Given the description of an element on the screen output the (x, y) to click on. 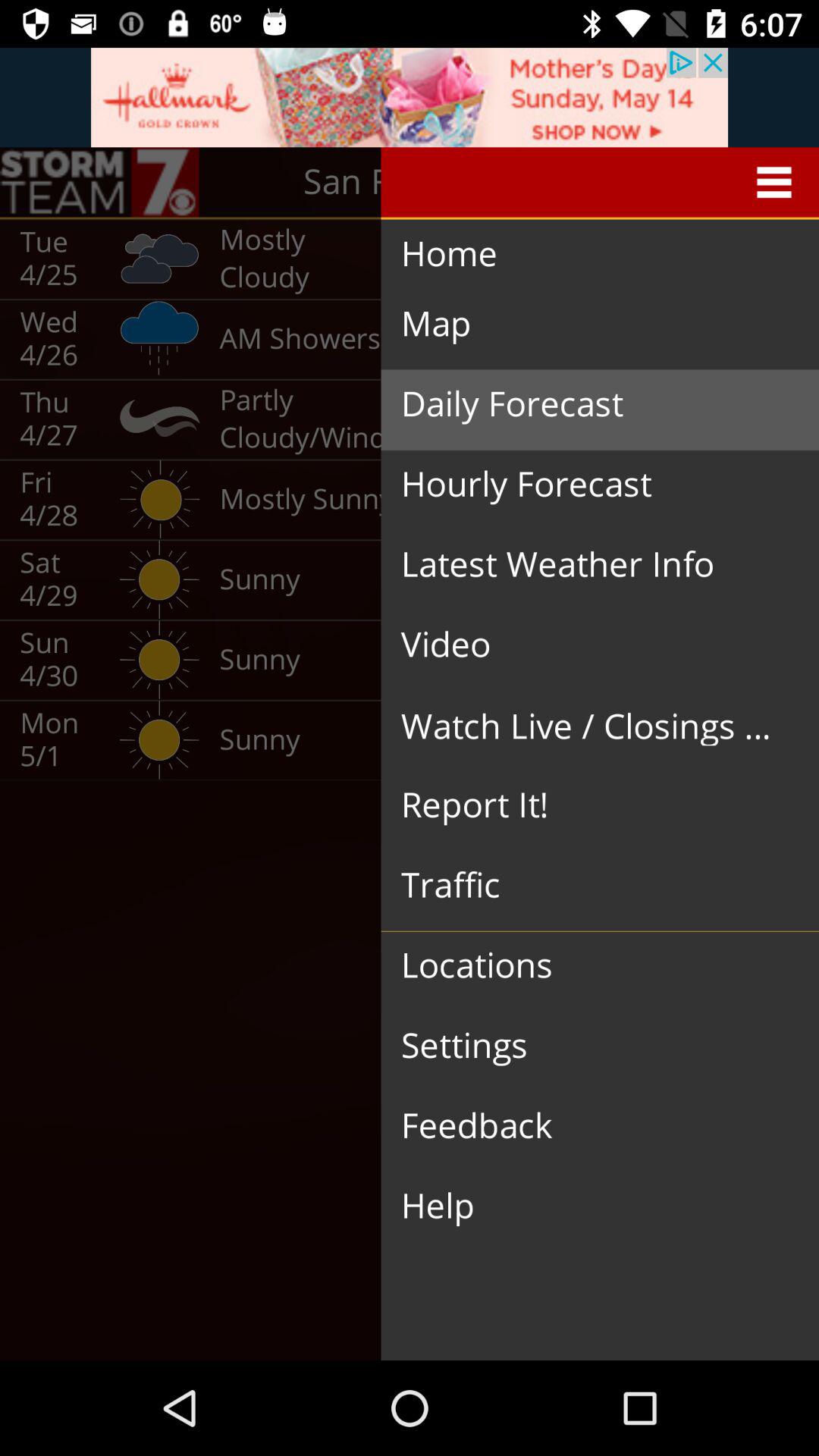
turn on item below report it! (587, 885)
